Given the description of an element on the screen output the (x, y) to click on. 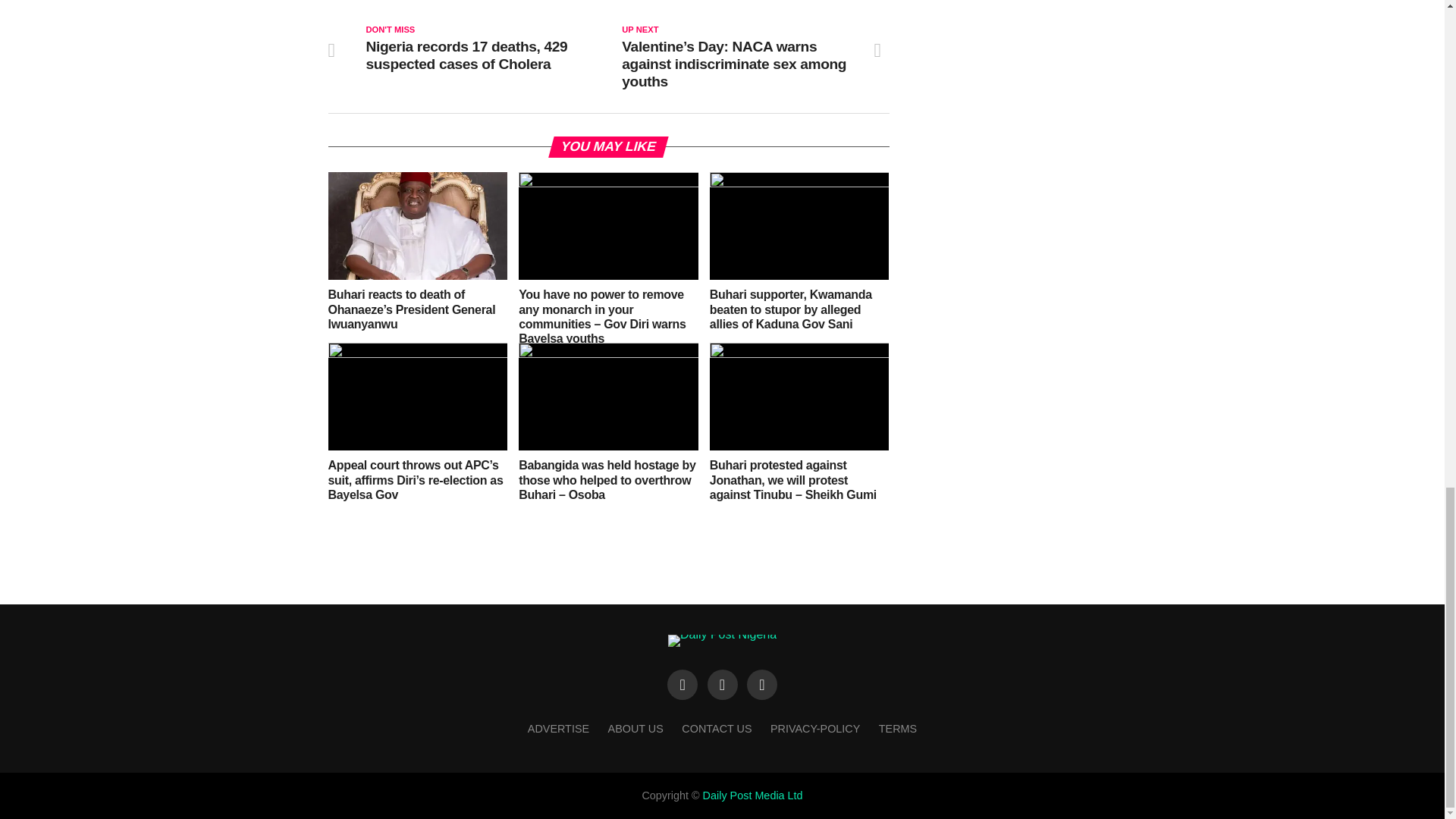
ABOUT US (635, 728)
ADVERTISE (558, 728)
